Given the description of an element on the screen output the (x, y) to click on. 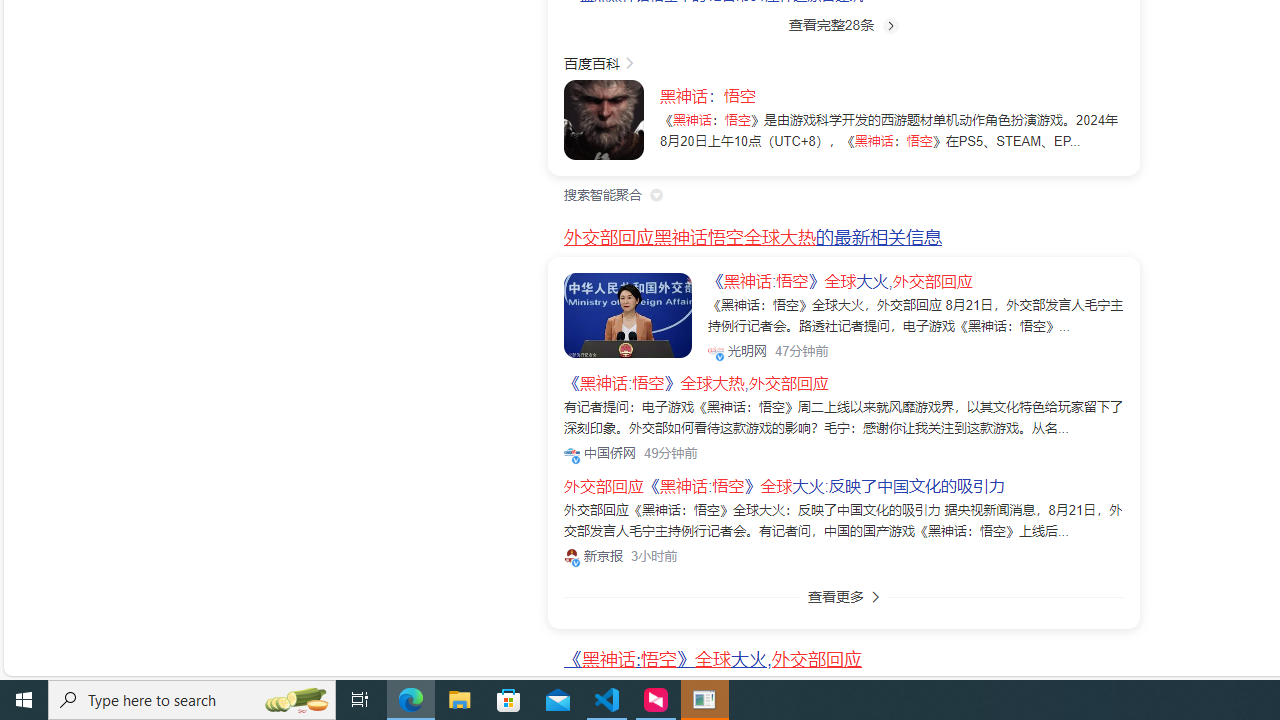
Class: c-img c-img-radius-large (628, 314)
